Given the description of an element on the screen output the (x, y) to click on. 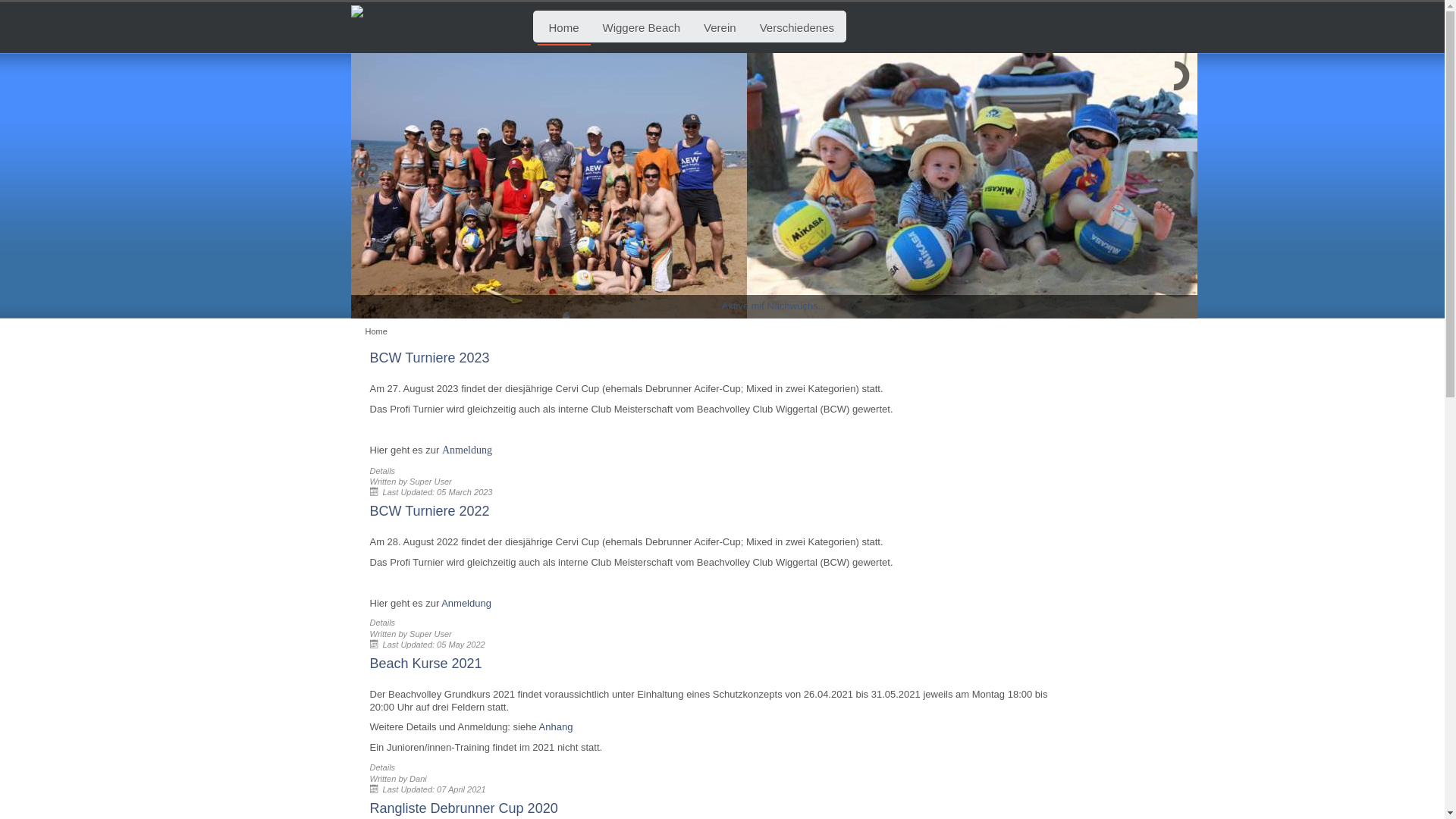
Wiggere Beach Element type: text (641, 26)
Home Element type: text (562, 27)
Anhang Element type: text (556, 726)
Verschiedenes Element type: text (796, 26)
Anmeldung Element type: text (467, 449)
Aktive mit Nachwuchs... Element type: text (773, 305)
Verein Element type: text (719, 26)
Anmeldung Element type: text (466, 602)
